Given the description of an element on the screen output the (x, y) to click on. 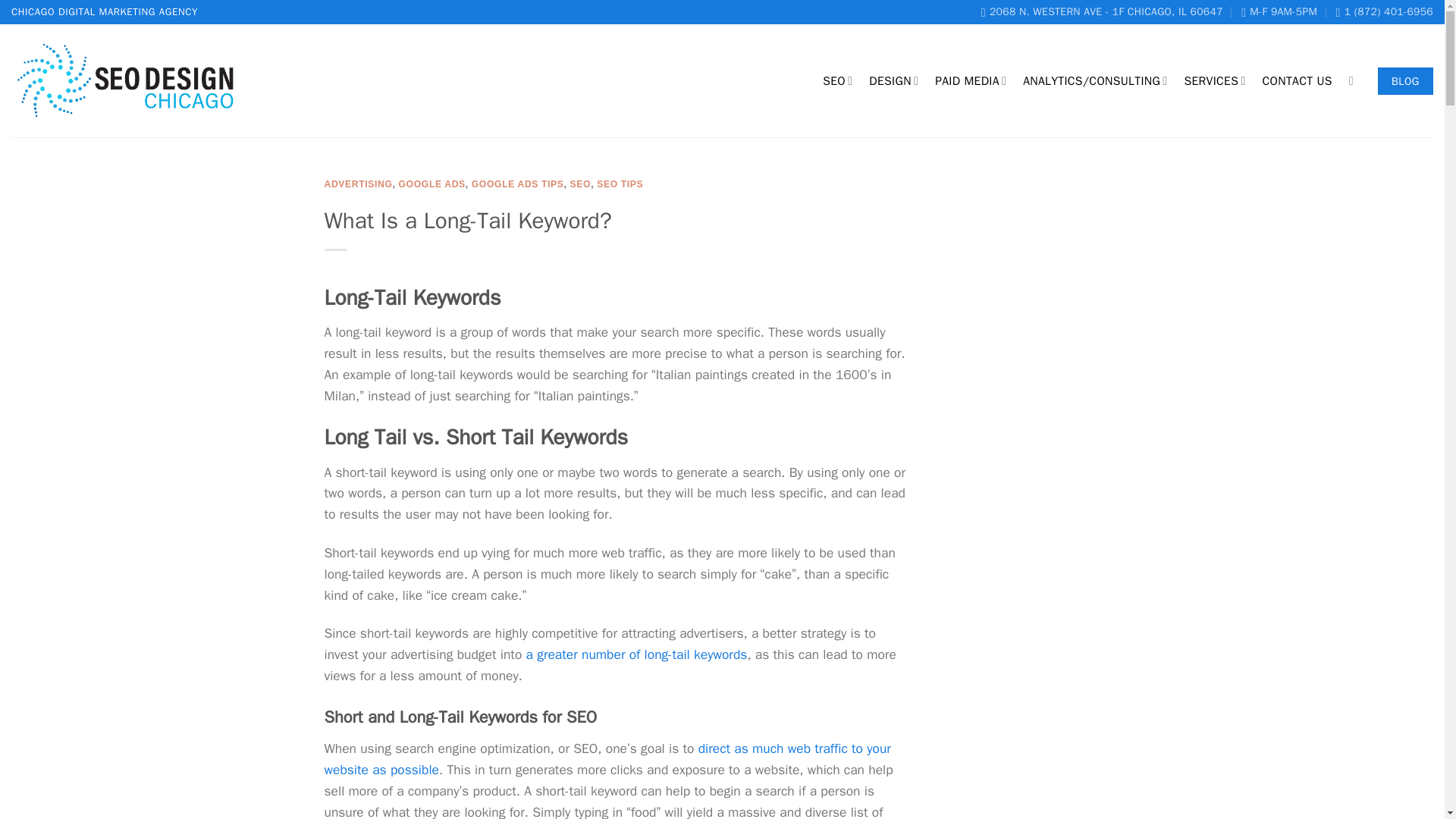
SEO Design Chicago - SEO Design Chicago (127, 81)
M-F 9AM-5PM (1279, 12)
SEO Design Chicago (1102, 12)
2068 N. WESTERN AVE - 1F CHICAGO, IL 60647 (1102, 12)
SEO (836, 80)
DESIGN (893, 80)
PAID MEDIA (970, 80)
